Given the description of an element on the screen output the (x, y) to click on. 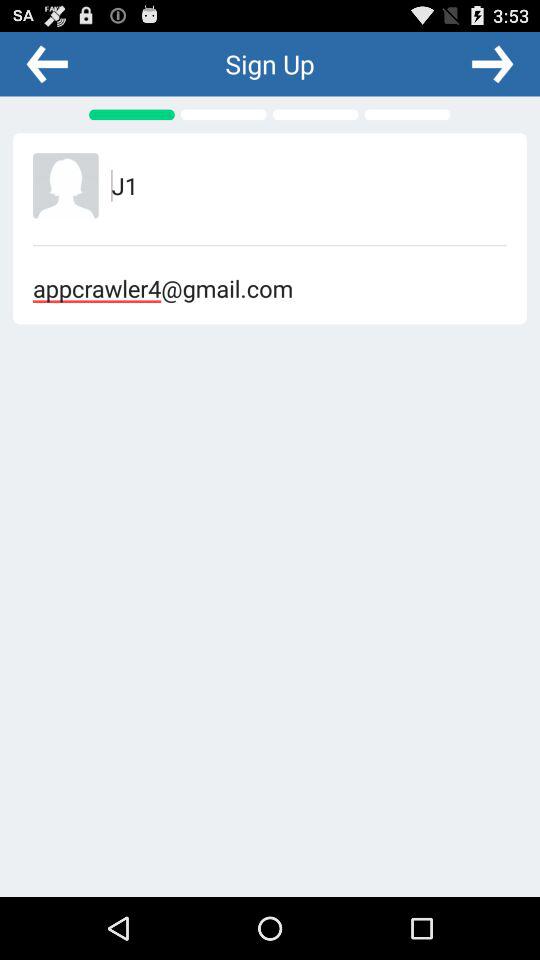
go back (47, 63)
